Given the description of an element on the screen output the (x, y) to click on. 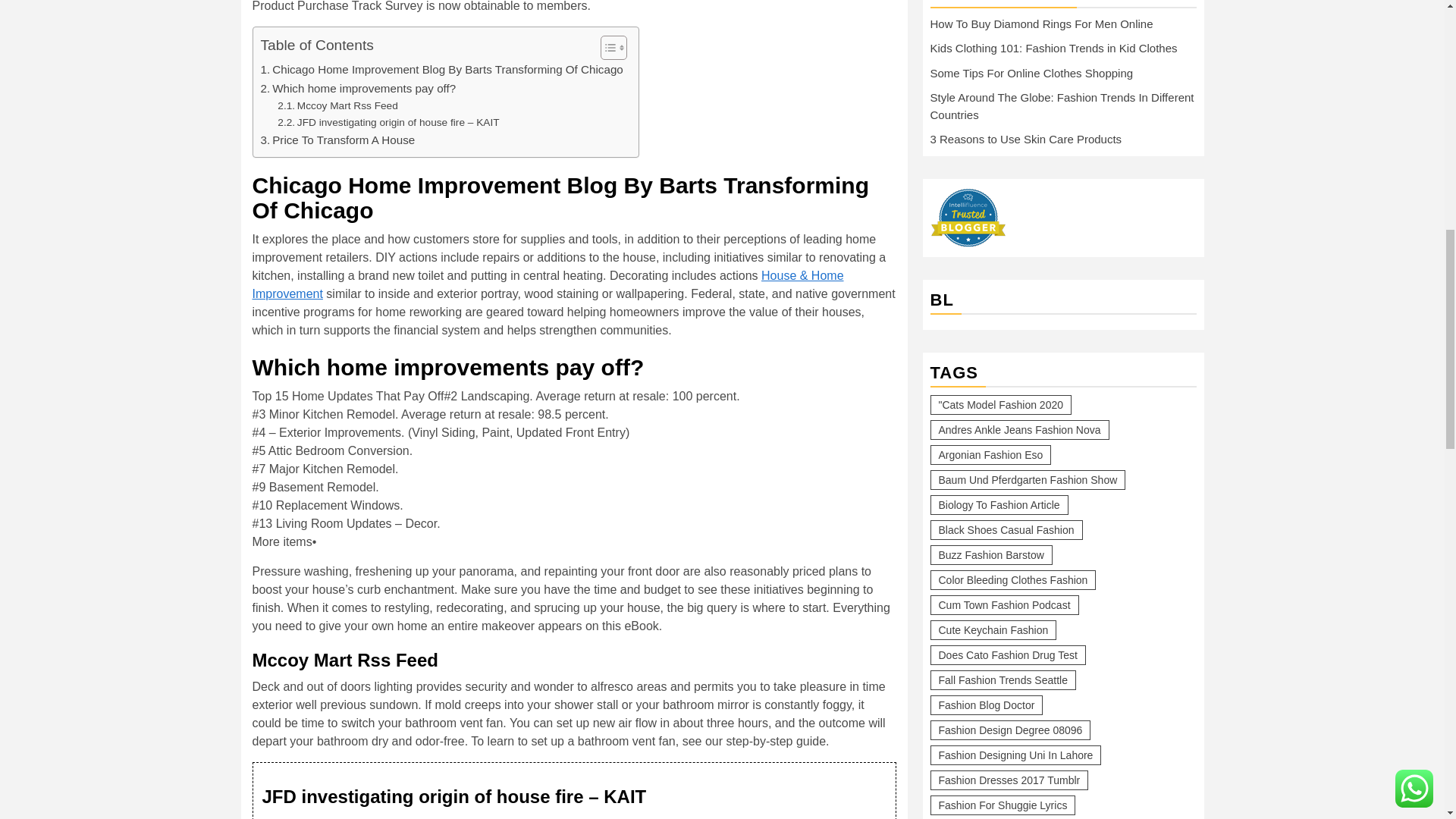
Price To Transform A House (337, 140)
Which home improvements pay off? (358, 88)
Mccoy Mart Rss Feed (337, 105)
Which home improvements pay off? (358, 88)
Price To Transform A House (337, 140)
Mccoy Mart Rss Feed (337, 105)
